Given the description of an element on the screen output the (x, y) to click on. 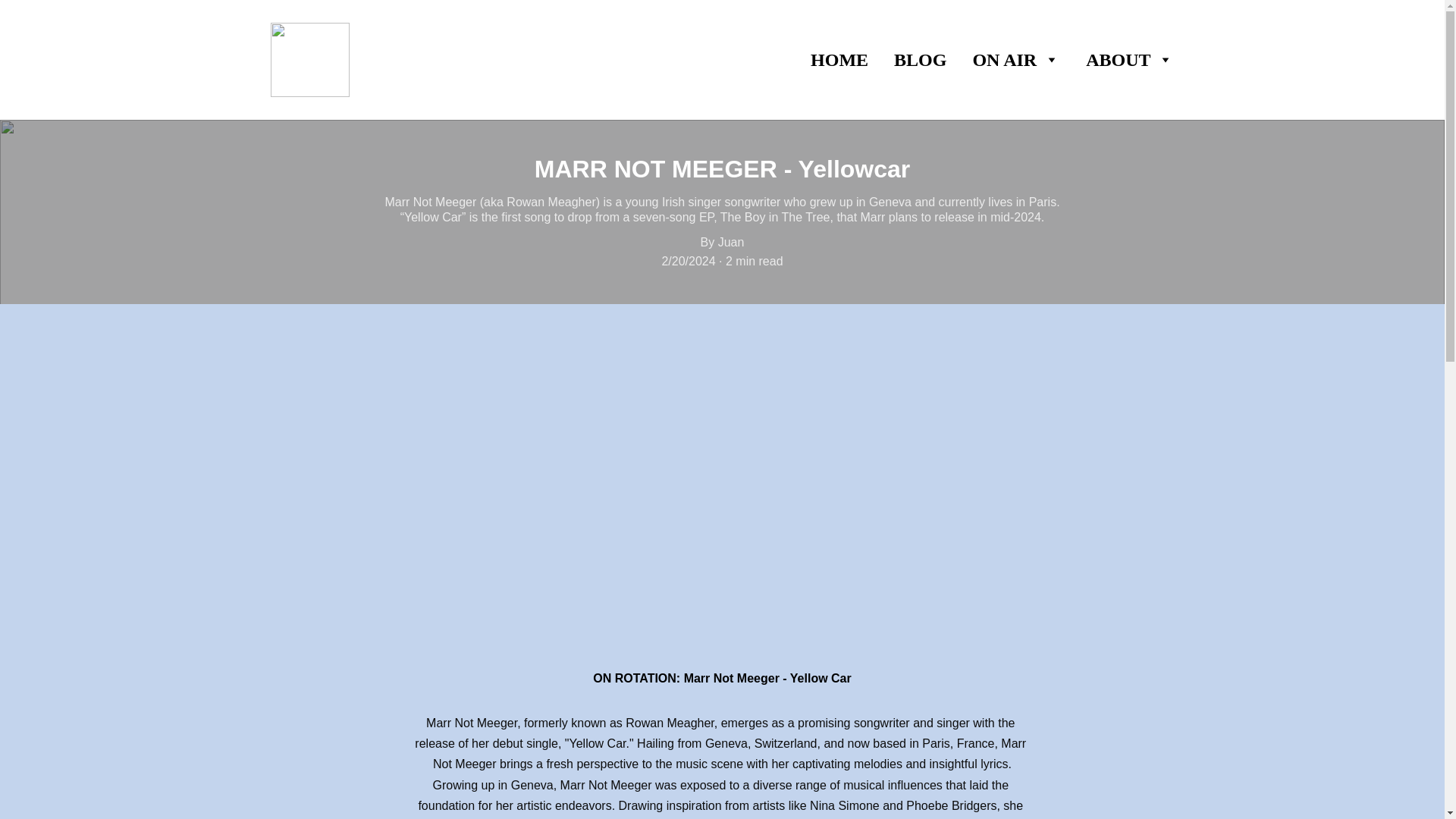
HOME (838, 59)
BLOG (919, 59)
ON AIR (1004, 59)
ABOUT (1118, 59)
